Given the description of an element on the screen output the (x, y) to click on. 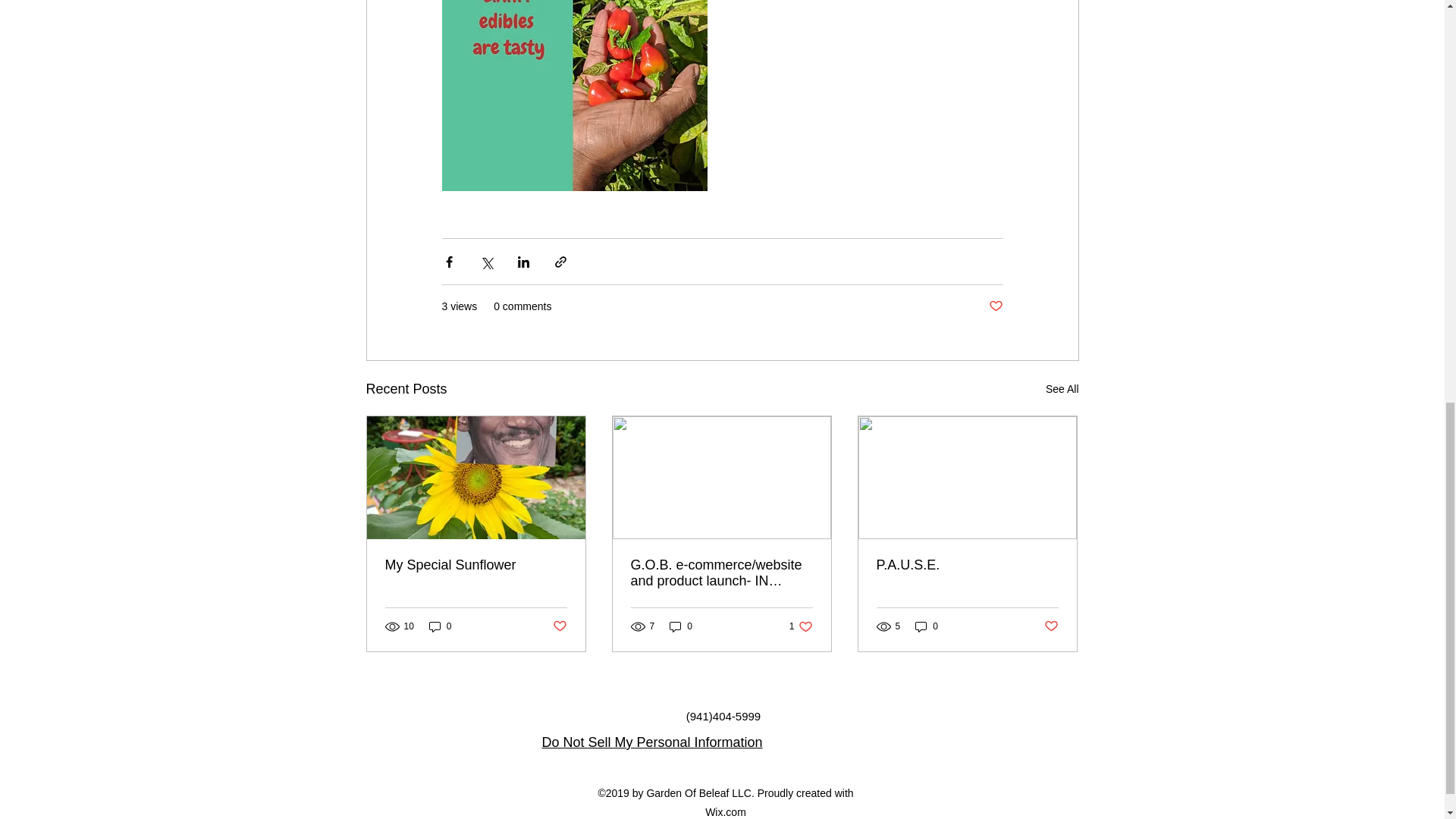
See All (1061, 389)
0 (800, 626)
Post not marked as liked (926, 626)
0 (558, 626)
P.A.U.S.E. (681, 626)
0 (967, 565)
Post not marked as liked (440, 626)
My Special Sunflower (995, 306)
